Given the description of an element on the screen output the (x, y) to click on. 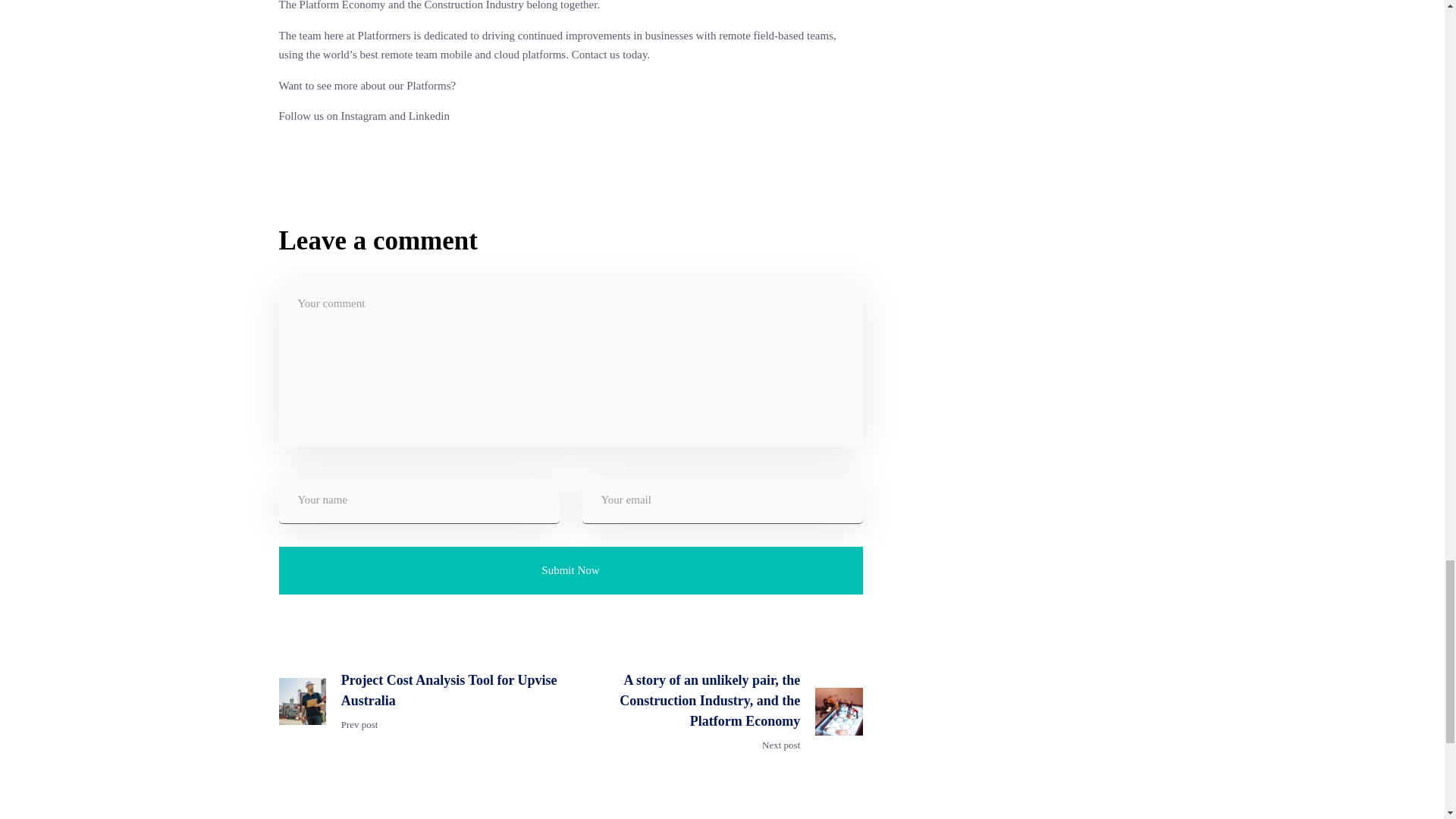
Instagram (363, 115)
Submit Now (571, 570)
Submit Now (571, 570)
Project Cost Analysis Tool for Upvise Australia (449, 690)
Linkedin (427, 115)
Contact us today. (611, 54)
